Given the description of an element on the screen output the (x, y) to click on. 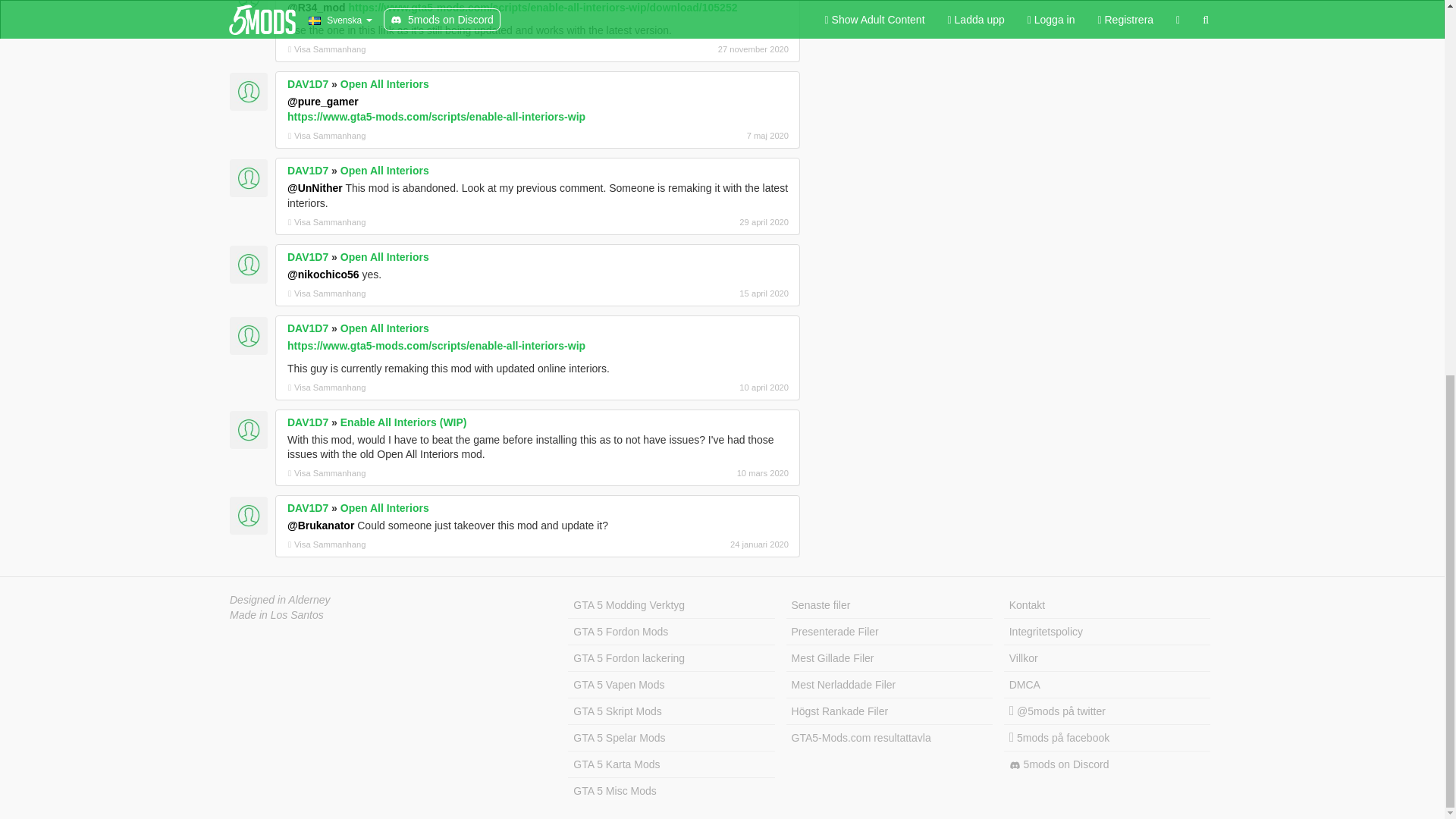
5mods on Discord (1106, 764)
